Given the description of an element on the screen output the (x, y) to click on. 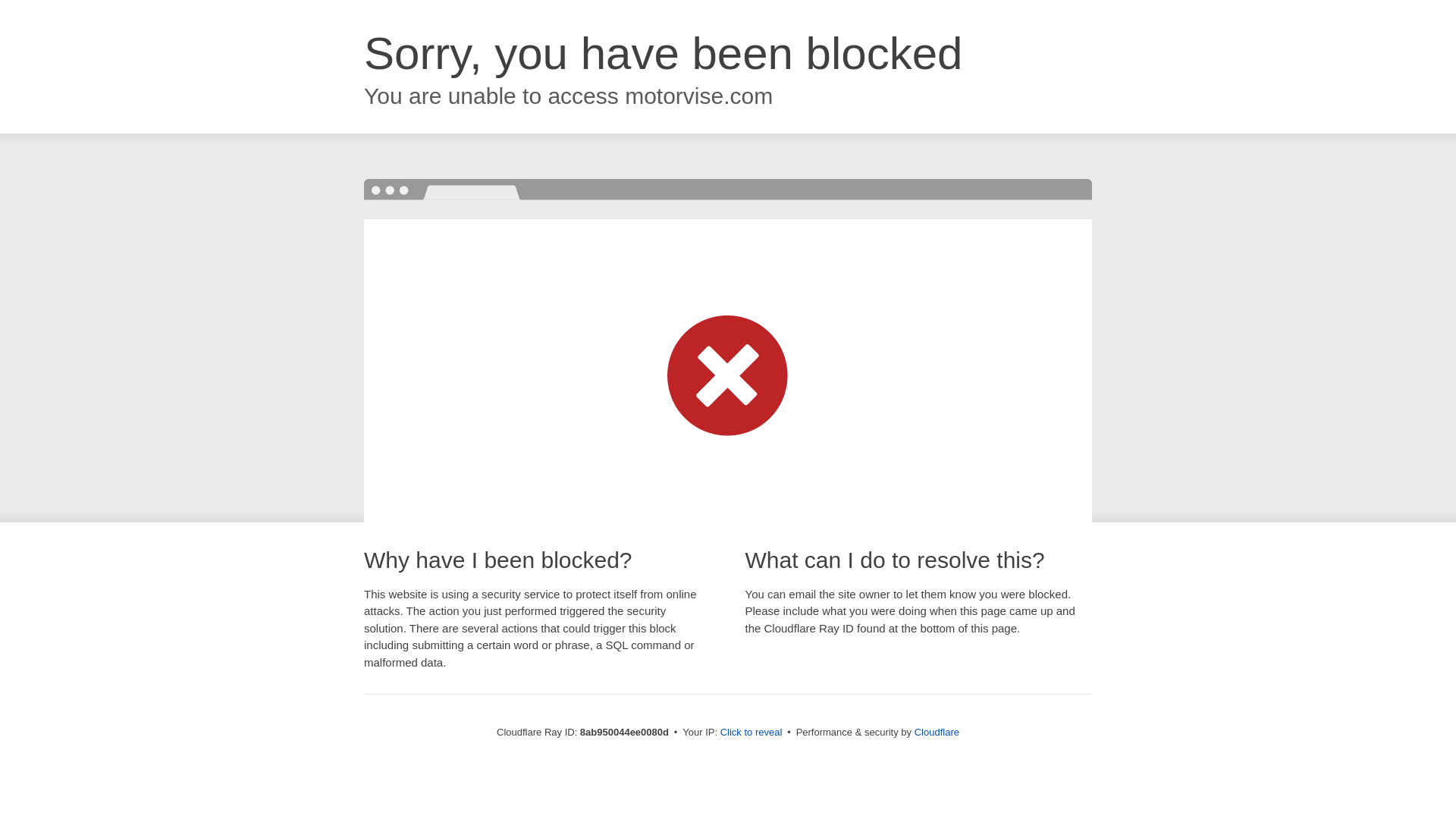
Cloudflare (936, 731)
Click to reveal (751, 732)
